Given the description of an element on the screen output the (x, y) to click on. 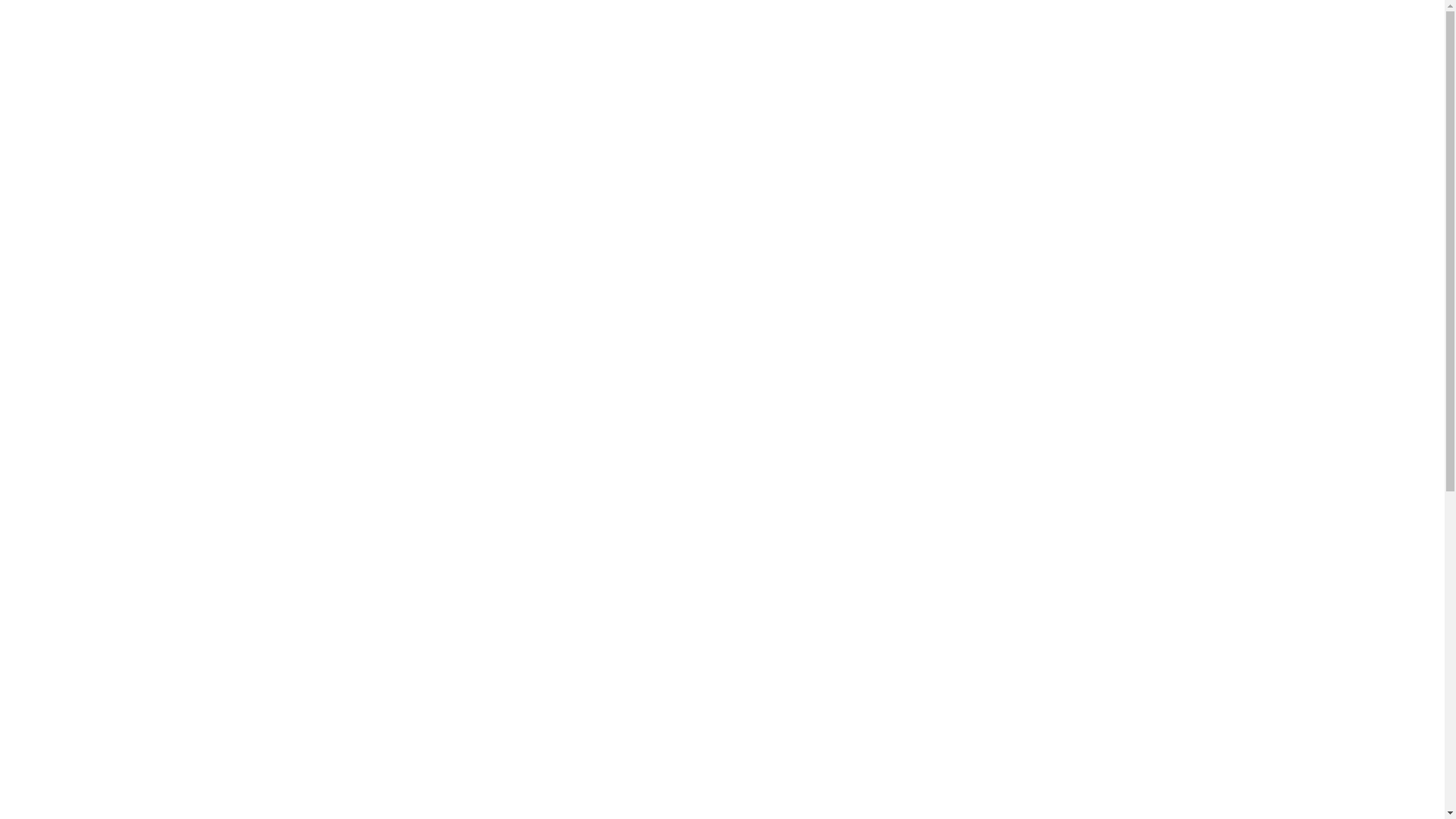
404 Element type: text (757, 268)
+375 29 545 22 34 Element type: text (405, 18)
+375 44 555 22 34 Element type: text (318, 18)
